Given the description of an element on the screen output the (x, y) to click on. 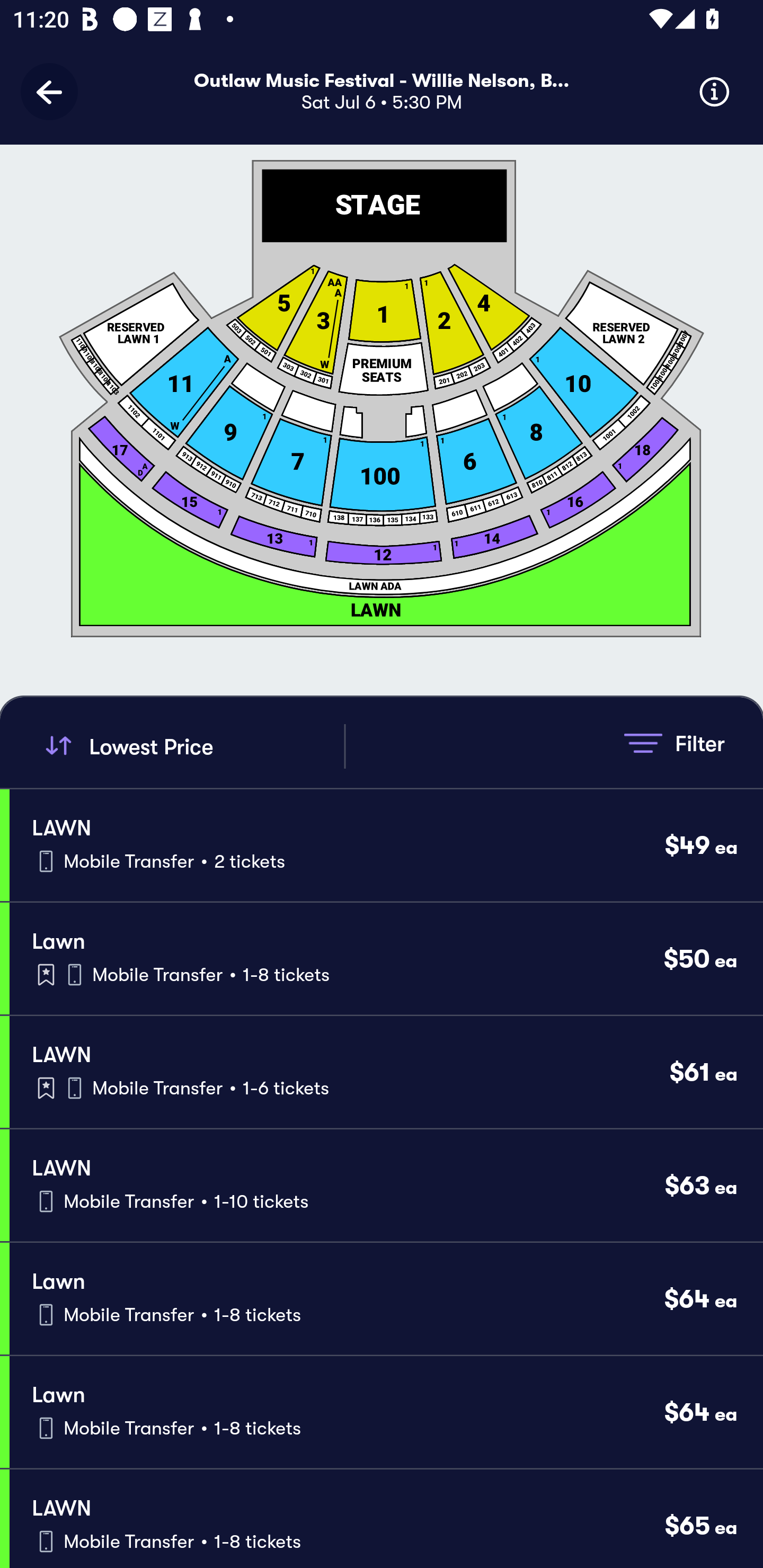
Lowest Price (191, 746)
Filter (674, 743)
LAWN Mobile Transfer • 2 tickets $49 ea (386, 844)
Lawn Mobile Transfer • 1-8 tickets $50 ea (386, 958)
LAWN Mobile Transfer • 1-6 tickets $61 ea (386, 1071)
LAWN Mobile Transfer • 1-10 tickets $63 ea (386, 1184)
Lawn Mobile Transfer • 1-8 tickets $64 ea (386, 1298)
Lawn Mobile Transfer • 1-8 tickets $64 ea (386, 1411)
LAWN Mobile Transfer • 1-8 tickets $65 ea (386, 1518)
